Given the description of an element on the screen output the (x, y) to click on. 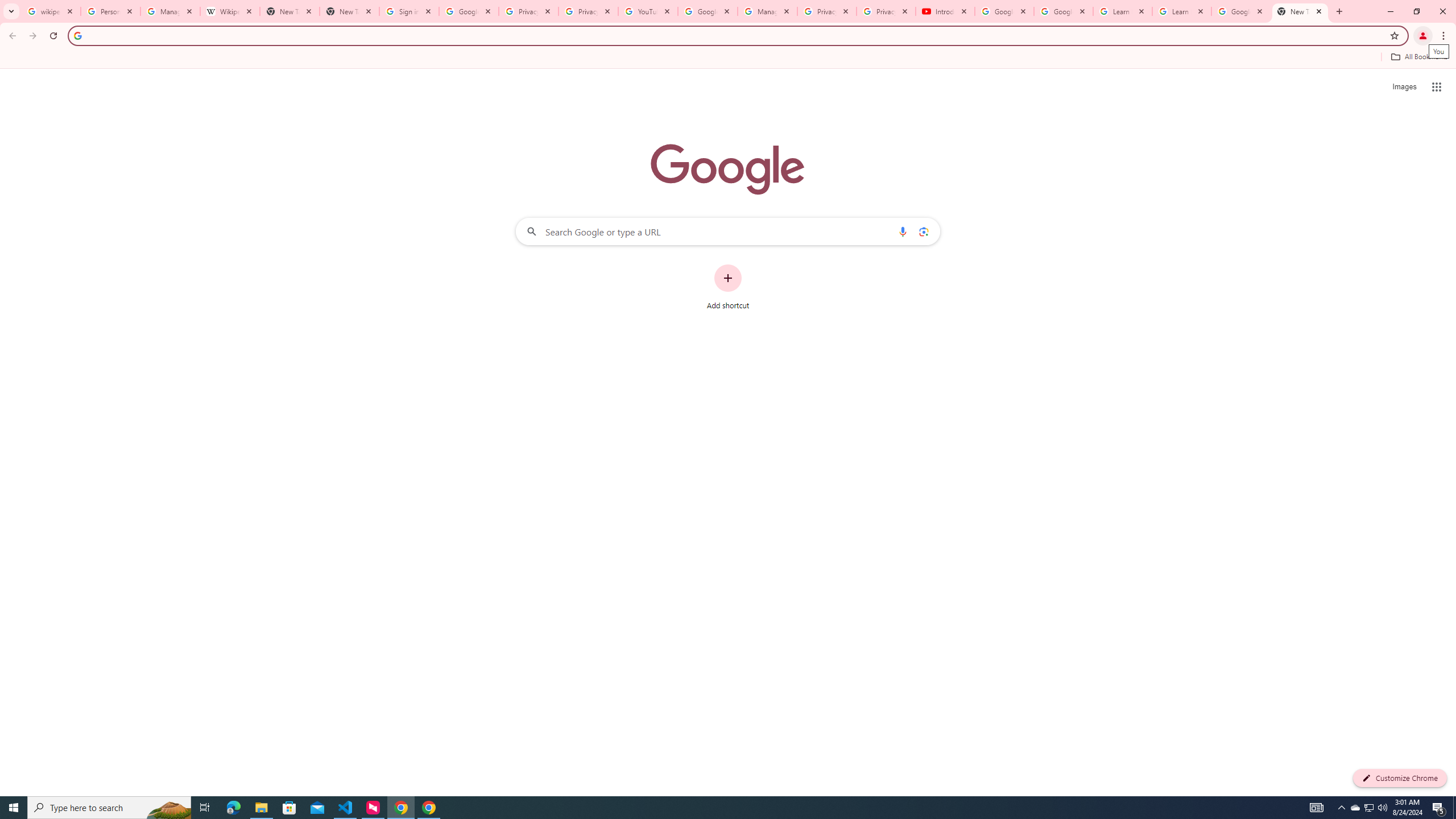
Manage your Location History - Google Search Help (170, 11)
Personalization & Google Search results - Google Search Help (110, 11)
Search by voice (902, 230)
Search Google or type a URL (727, 230)
Bookmarks (728, 58)
New Tab (1300, 11)
Google Account (1241, 11)
Search for Images  (1403, 87)
Add shortcut (727, 287)
Google Account Help (1004, 11)
